Given the description of an element on the screen output the (x, y) to click on. 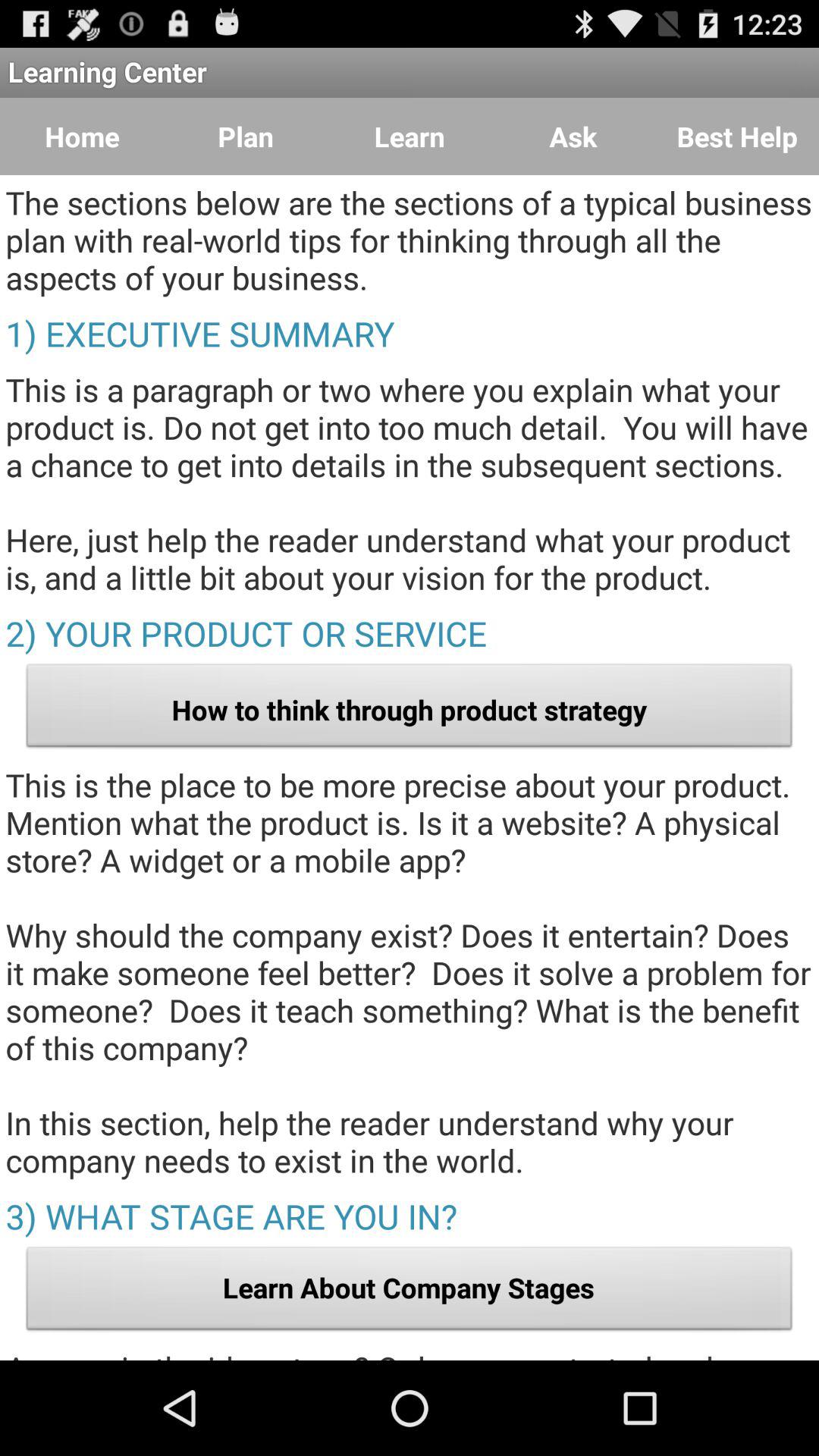
click the icon below the learning center app (573, 136)
